Given the description of an element on the screen output the (x, y) to click on. 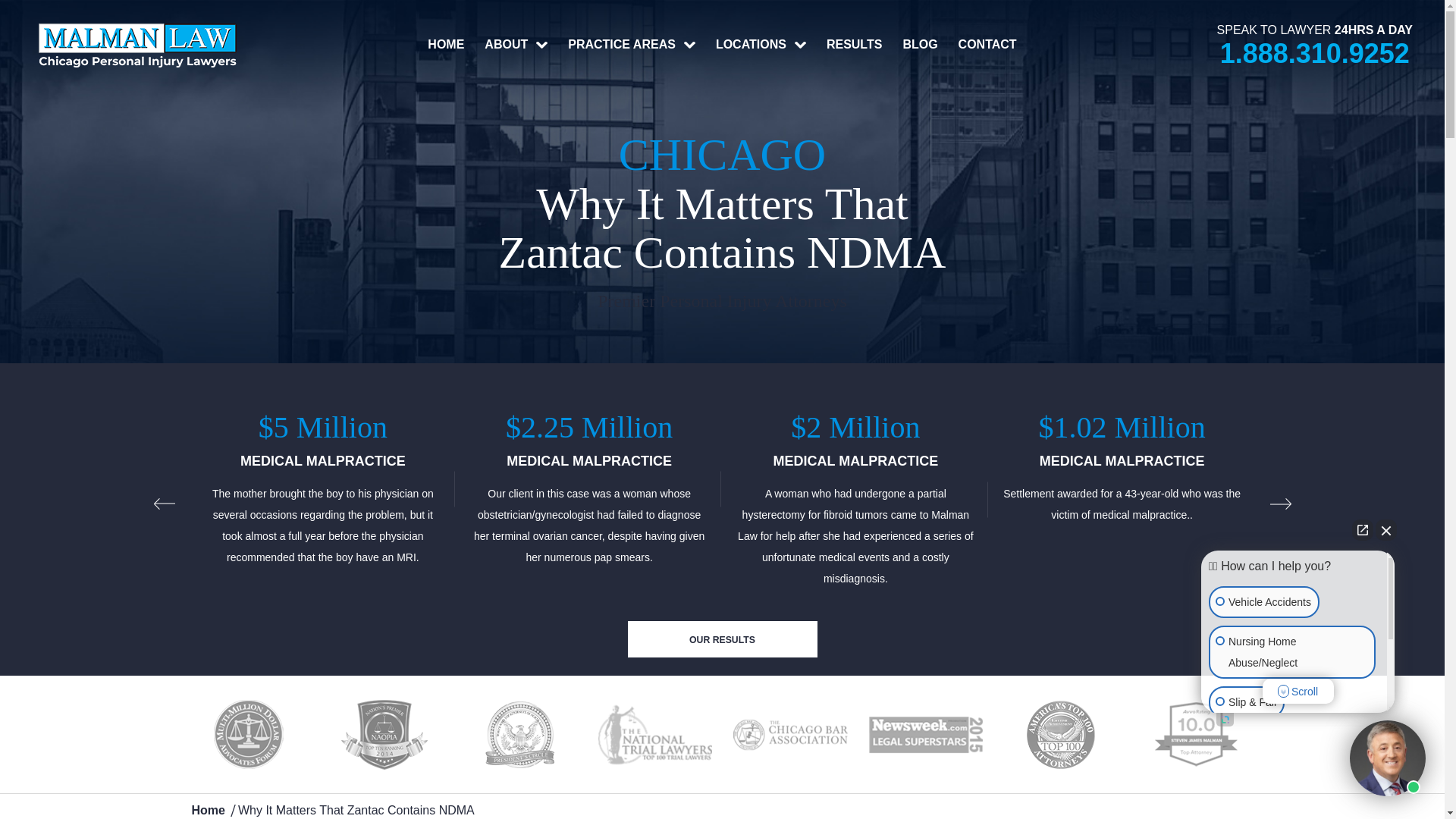
HOME (445, 44)
ABOUT (516, 44)
Home (207, 809)
PRACTICE AREAS (631, 44)
